Given the description of an element on the screen output the (x, y) to click on. 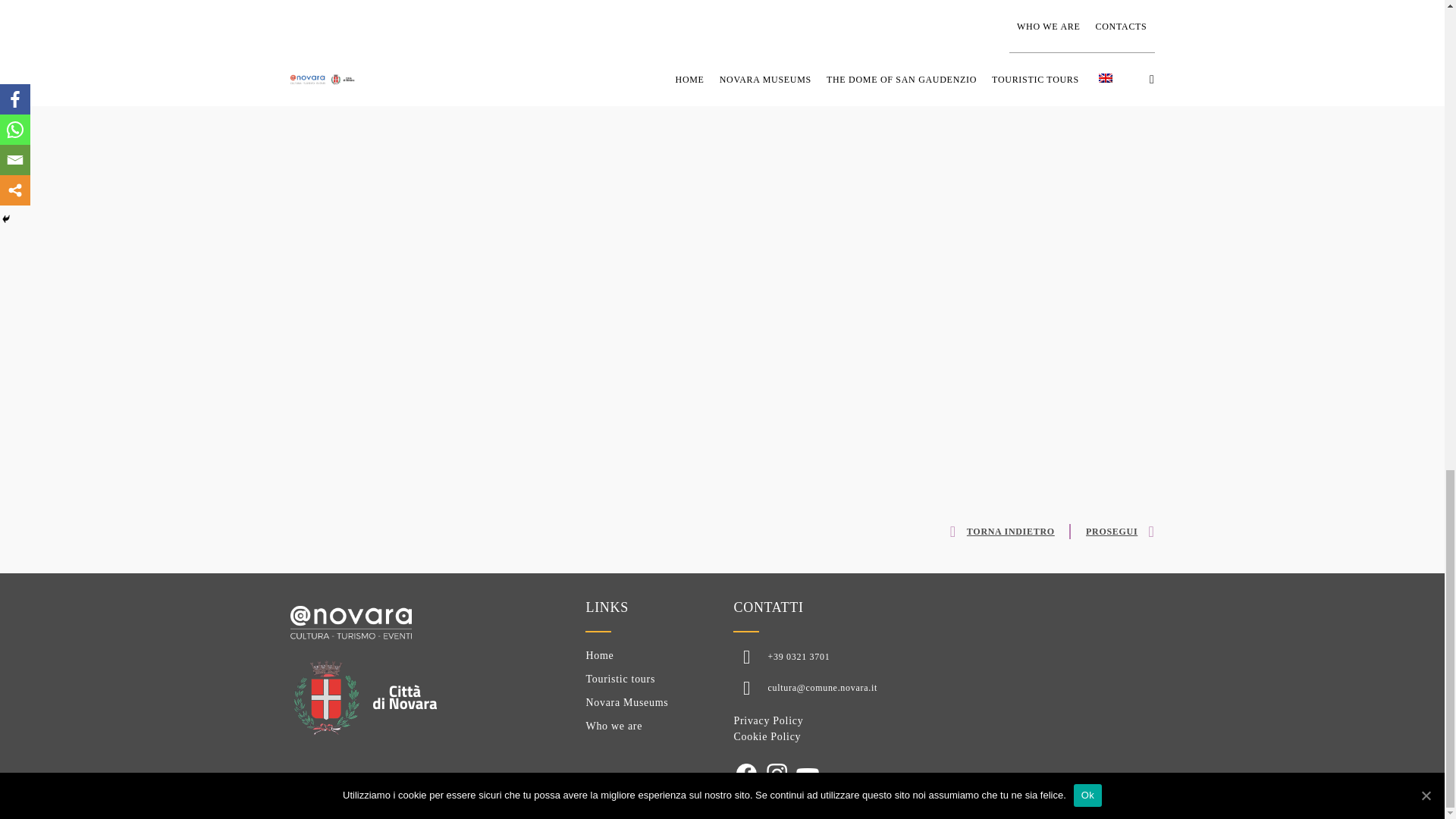
TORNA INDIETRO (998, 531)
Cookie Policy (766, 736)
Touristic tours (620, 678)
Who we are (613, 726)
Novara Museums (626, 702)
Home (598, 655)
Privacy Policy (768, 720)
PROSEGUI (1111, 531)
